Given the description of an element on the screen output the (x, y) to click on. 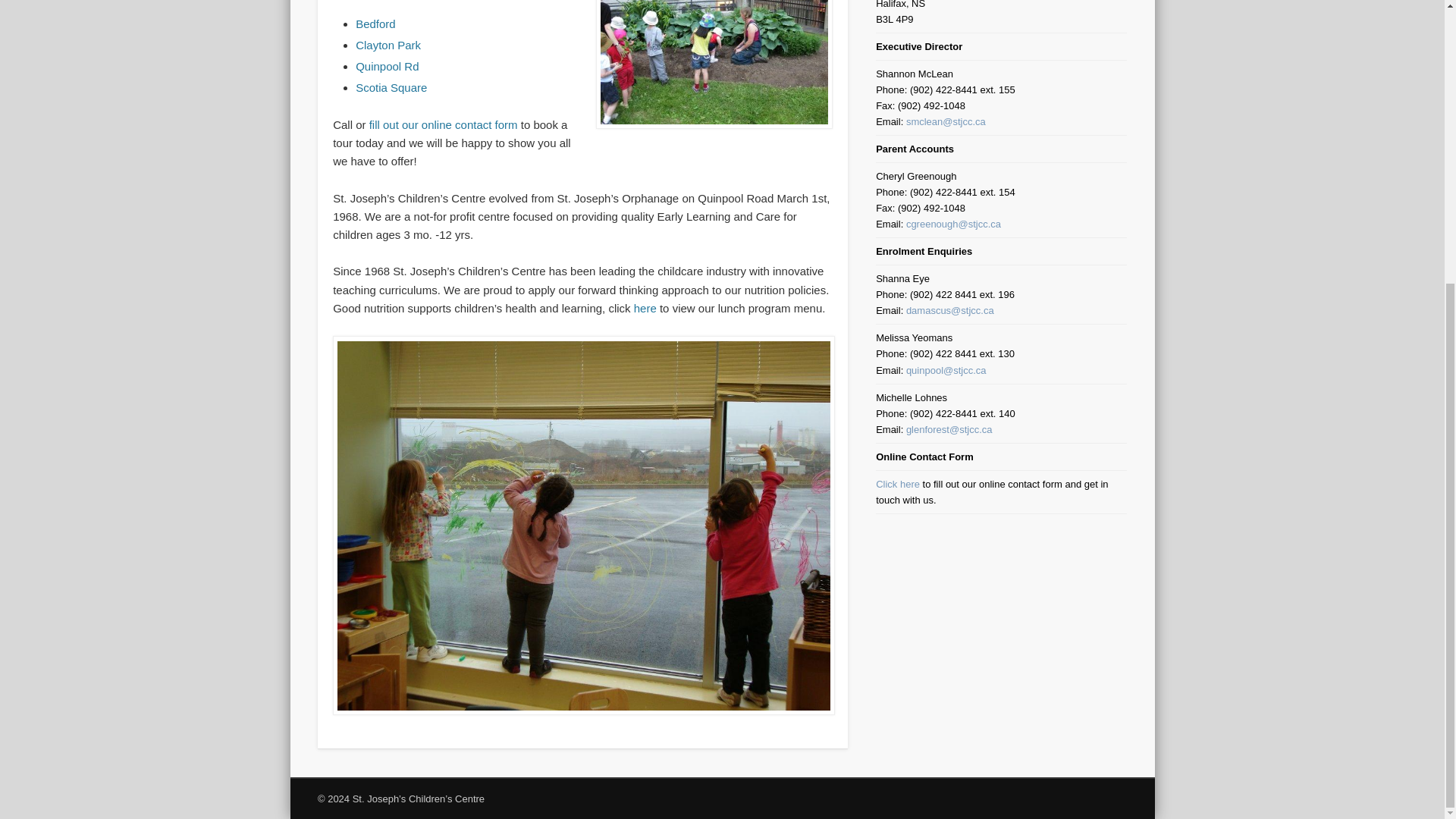
Bedford (375, 23)
Click here (898, 483)
Quinpool Rd (387, 65)
Scotia Square (390, 87)
Contact (443, 124)
Scotia Square (390, 87)
Lunch Menu (644, 308)
fill out our online contact form (443, 124)
Quinpool Rd (387, 65)
Clayton Park (387, 44)
